Given the description of an element on the screen output the (x, y) to click on. 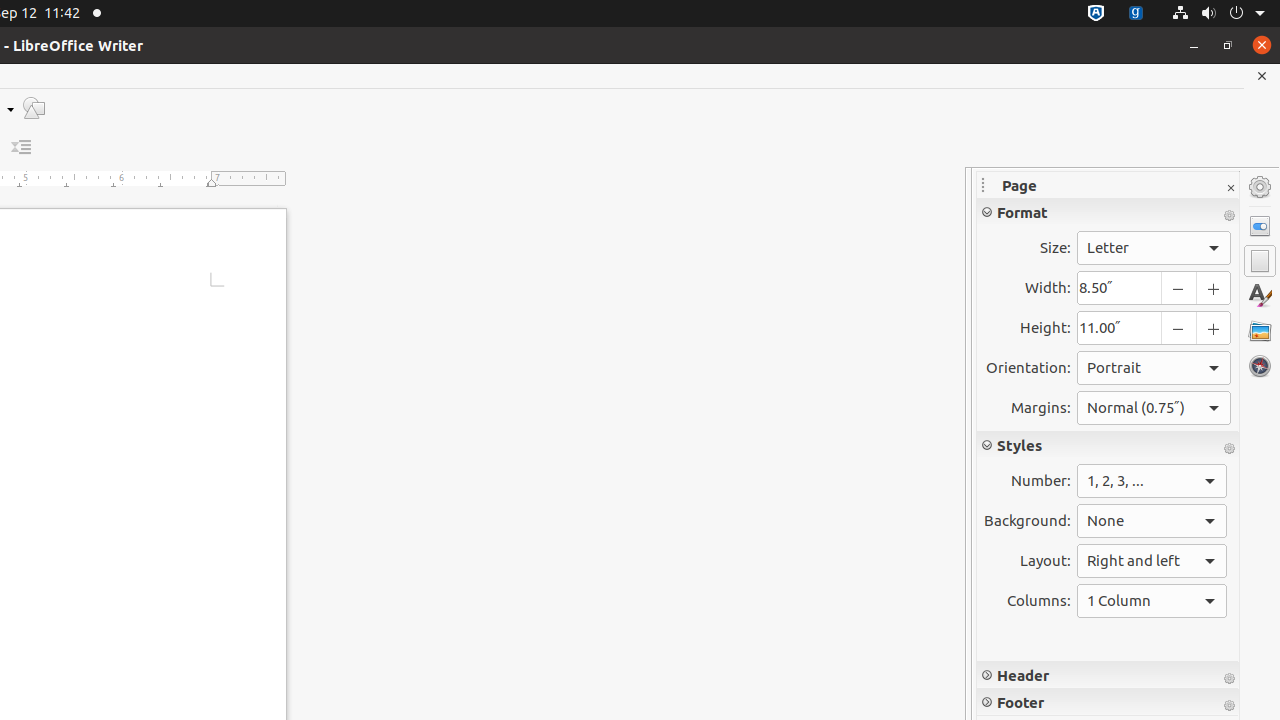
Navigator Element type: radio-button (1260, 366)
:1.72/StatusNotifierItem Element type: menu (1096, 13)
Size: Element type: combo-box (1154, 248)
Columns: Element type: combo-box (1152, 601)
More Options Element type: push-button (1229, 706)
